Given the description of an element on the screen output the (x, y) to click on. 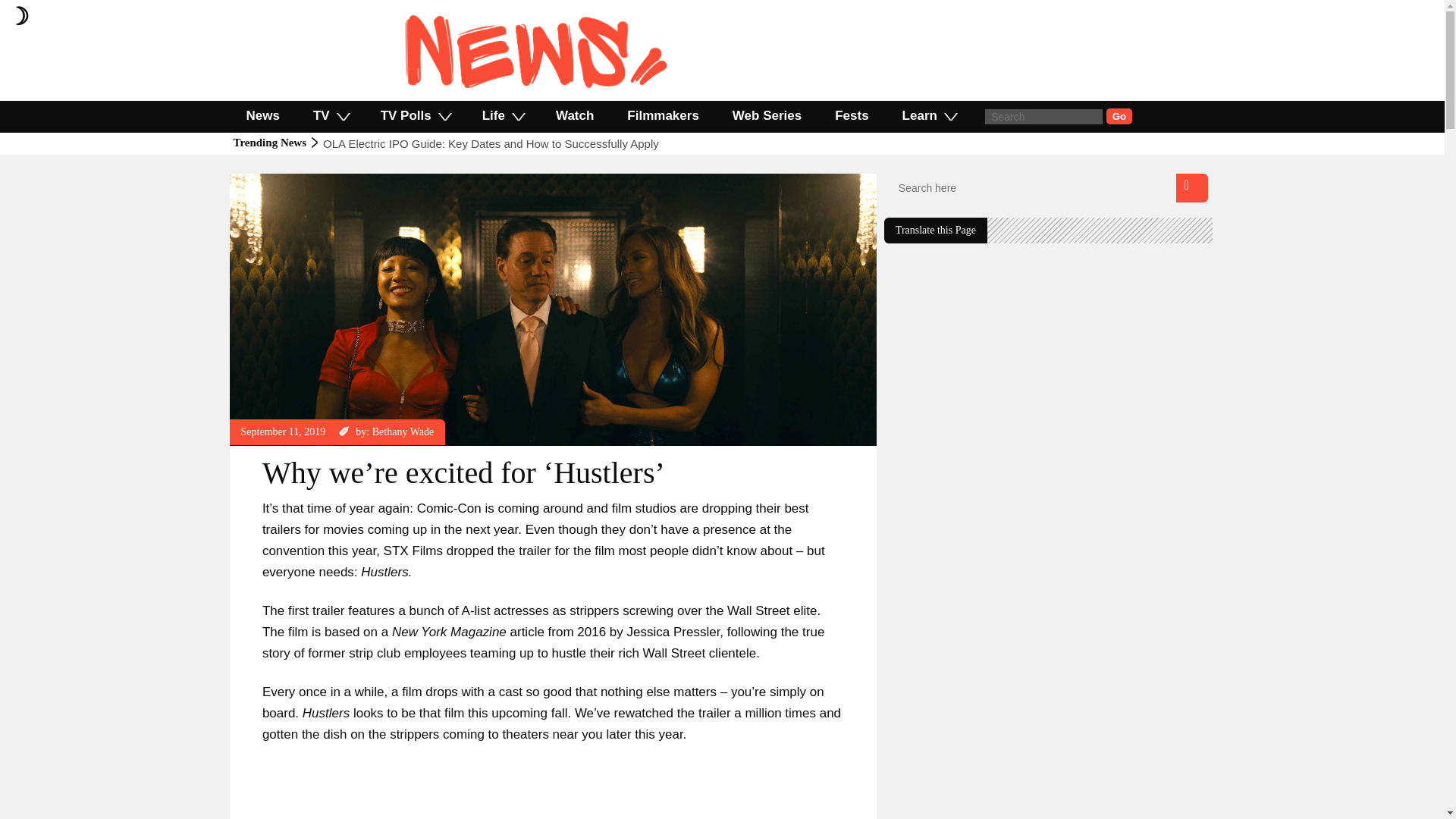
TV (330, 115)
News (261, 115)
News (297, 180)
Go (1119, 116)
Fests (851, 115)
TV Polls (414, 115)
Learn (928, 115)
Go (1119, 116)
Life (501, 115)
Watch (574, 115)
Go (1119, 116)
Filmmakers (663, 115)
Lifestyle (259, 180)
Web Series (767, 115)
